Given the description of an element on the screen output the (x, y) to click on. 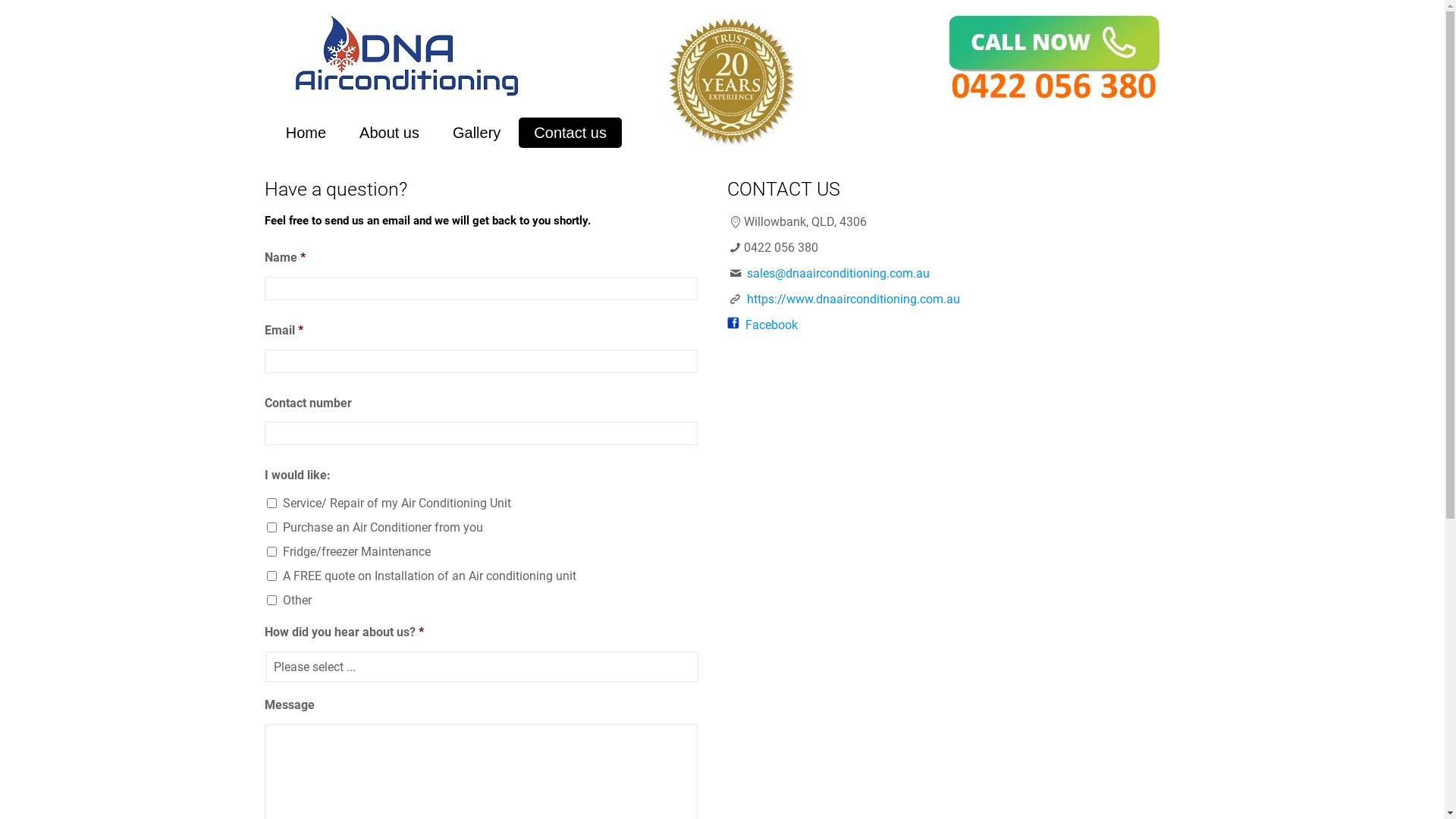
DNA Air conditioning Element type: hover (405, 54)
Home Element type: text (305, 132)
sales@dnaairconditioning.com.au Element type: text (837, 273)
Contact us Element type: text (569, 132)
Gallery Element type: text (476, 132)
About us Element type: text (389, 132)
 Facebook Element type: text (769, 324)
https://www.dnaairconditioning.com.au Element type: text (853, 298)
